Given the description of an element on the screen output the (x, y) to click on. 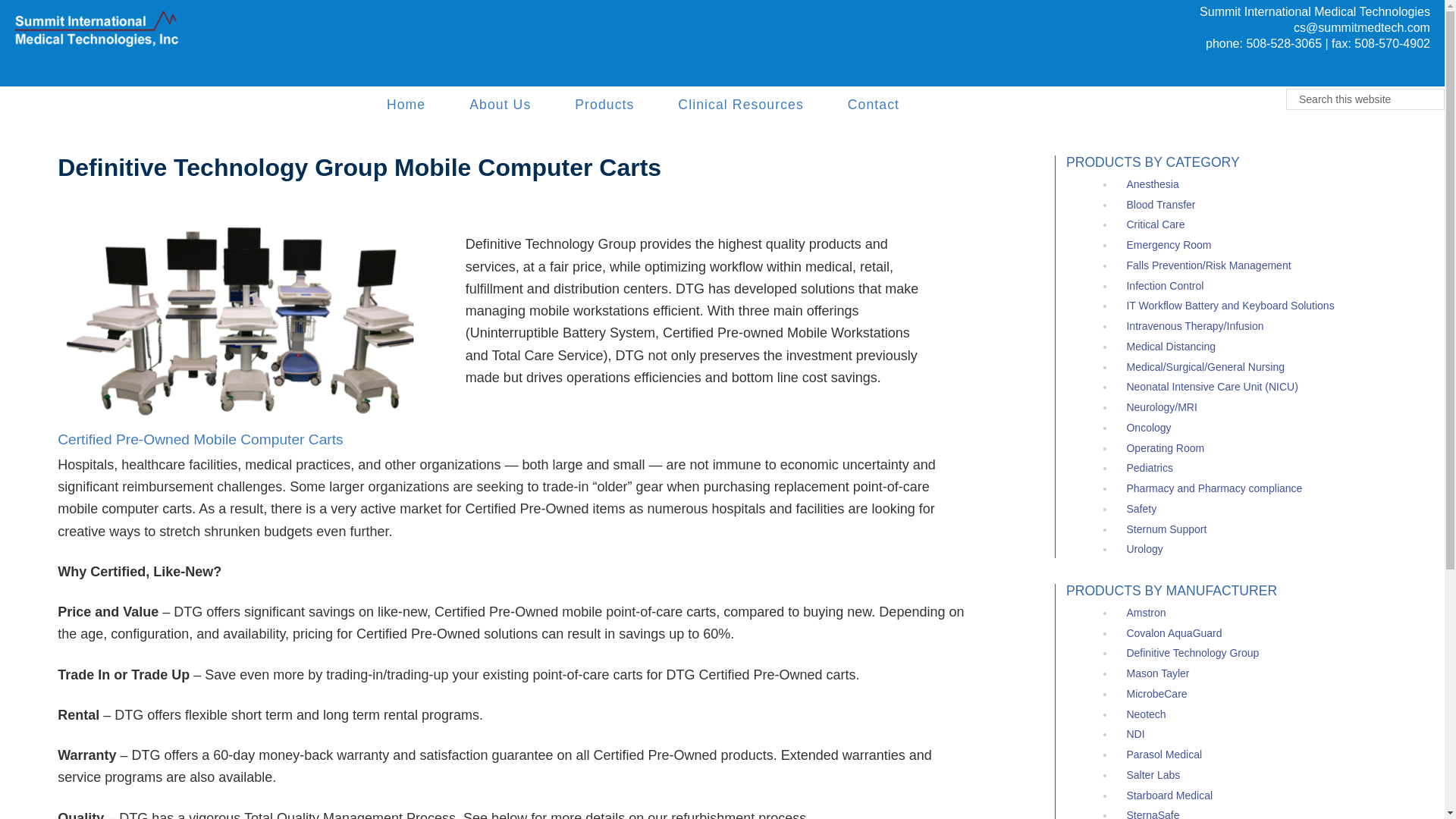
Pharmacy and Pharmacy compliance (1213, 488)
Operating Room (1164, 448)
Oncology (1147, 427)
Anesthesia (1151, 184)
Sternum Support (1166, 529)
fax: 508-570-4902 (1380, 42)
Medical Distancing (1170, 346)
Products (604, 104)
Contact (873, 104)
Blood Transfer (1160, 204)
Covalon AquaGuard (1173, 633)
Definitive Technology Group (1192, 653)
Pediatrics (1148, 467)
About Us (499, 104)
Mason Tayler (1157, 673)
